Given the description of an element on the screen output the (x, y) to click on. 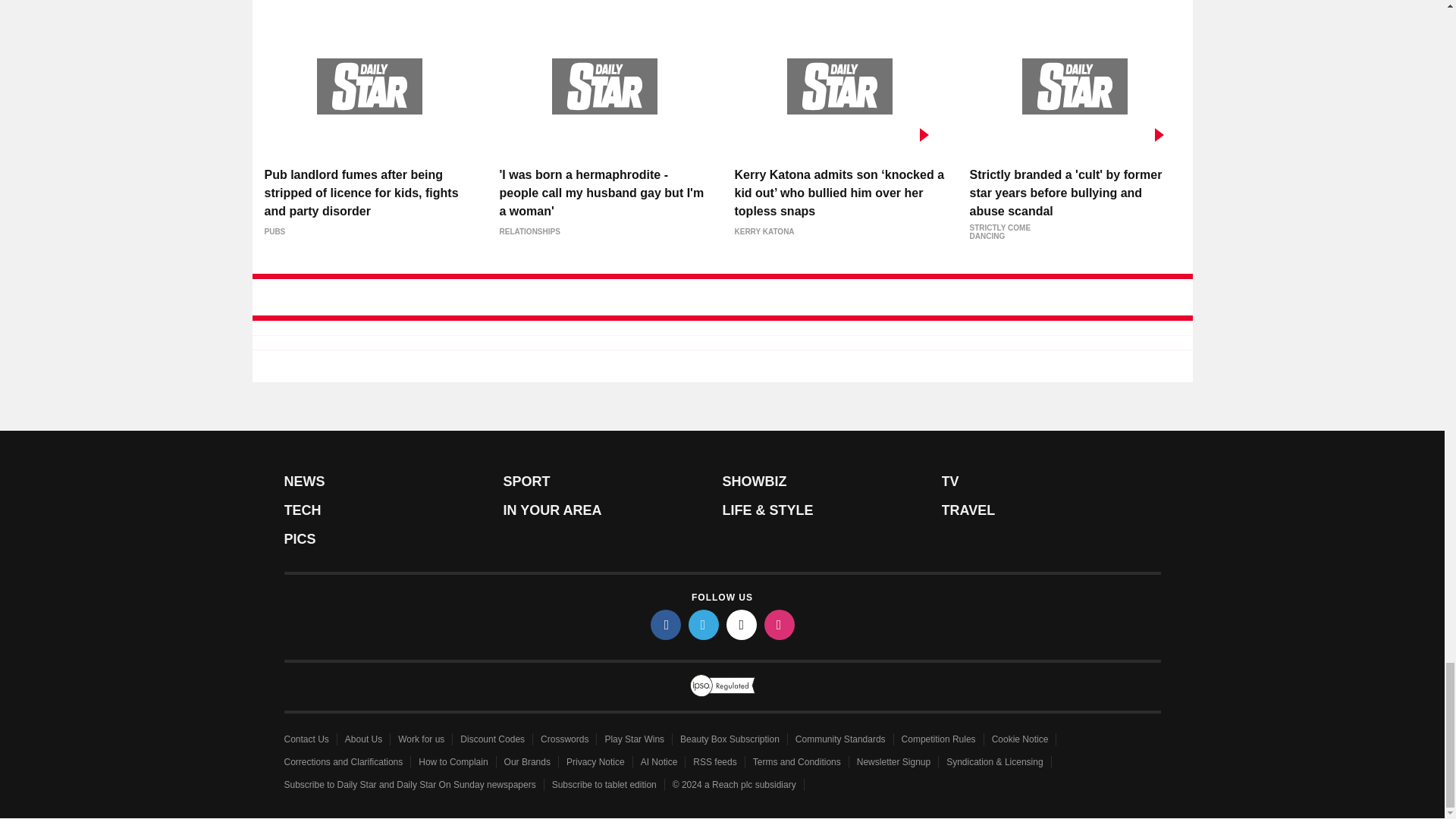
tiktok (741, 624)
facebook (665, 624)
instagram (779, 624)
twitter (703, 624)
